Given the description of an element on the screen output the (x, y) to click on. 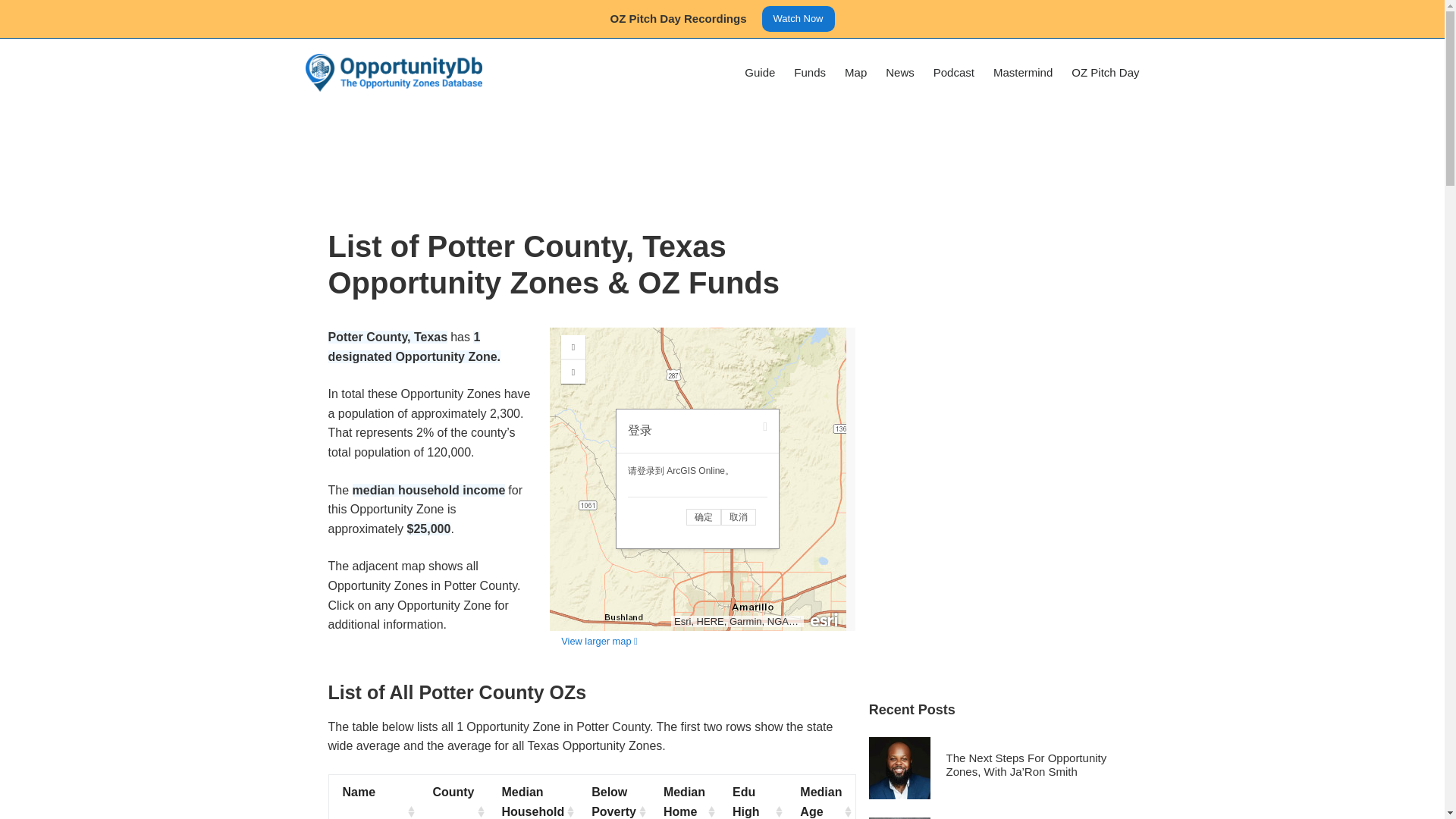
Map (855, 72)
Skip to content (15, 7)
Funds (809, 72)
3rd party ad content (721, 156)
News (900, 72)
3rd party ad content (982, 451)
View larger map (598, 641)
Mastermind (1022, 72)
OZ Pitch Day (1101, 72)
Watch Now (797, 18)
Opportunity Zones (703, 478)
Guide (759, 72)
Podcast (953, 72)
